Given the description of an element on the screen output the (x, y) to click on. 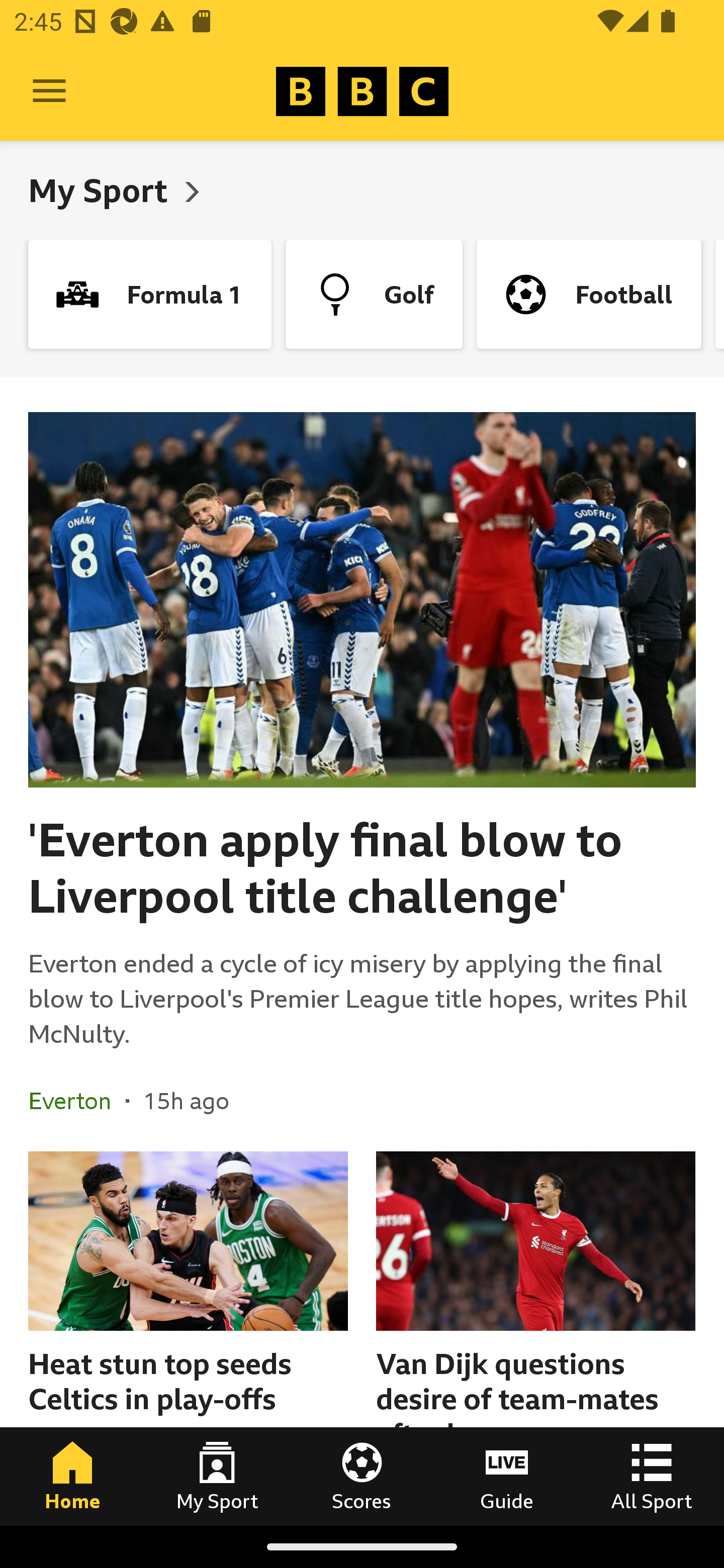
Open Menu (49, 91)
My Sport (101, 190)
Everton In the section Everton (76, 1100)
My Sport (216, 1475)
Scores (361, 1475)
Guide (506, 1475)
All Sport (651, 1475)
